Given the description of an element on the screen output the (x, y) to click on. 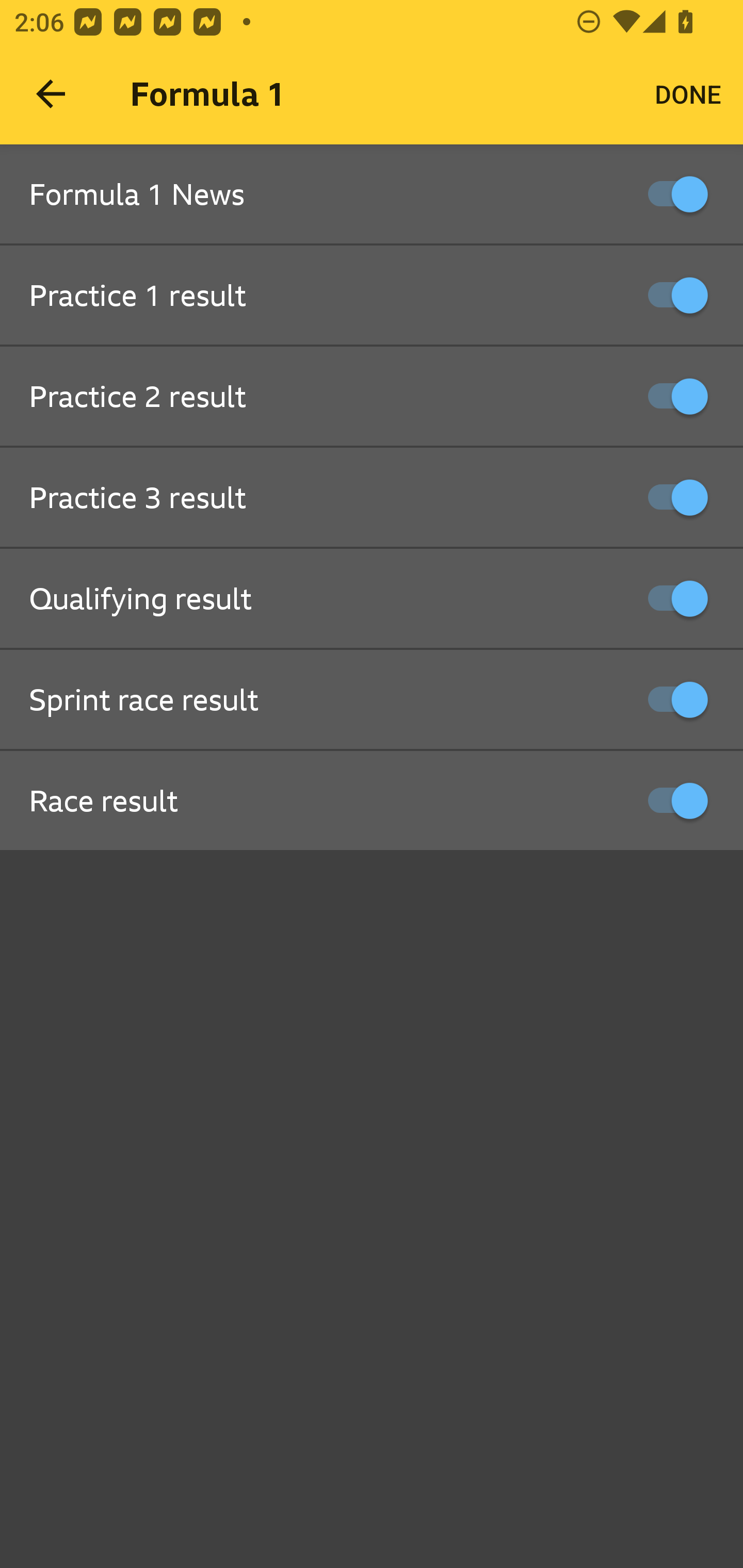
Navigate up (50, 93)
DONE (688, 93)
Formula 1 News, ON, Switch Formula 1 News (371, 195)
Practice 1 result, ON, Switch Practice 1 result (371, 296)
Practice 2 result, ON, Switch Practice 2 result (371, 397)
Practice 3 result, ON, Switch Practice 3 result (371, 498)
Qualifying result, ON, Switch Qualifying result (371, 598)
Sprint race result, ON, Switch Sprint race result (371, 700)
Race result, ON, Switch Race result (371, 801)
